Given the description of an element on the screen output the (x, y) to click on. 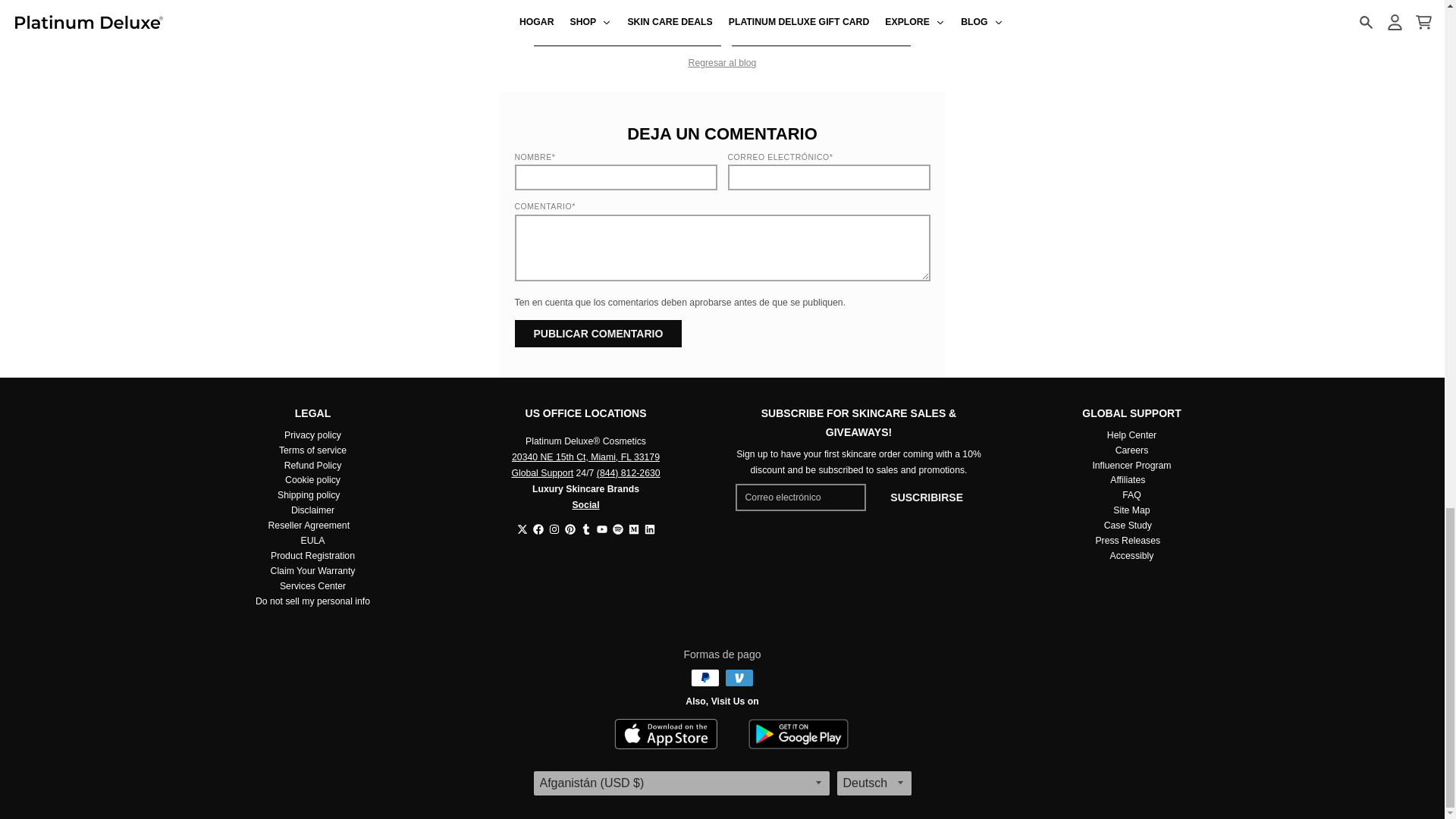
Facebook - Platinum Deluxe Cosmetics (537, 529)
Tumblr - Platinum Deluxe Cosmetics (585, 529)
LinkedIn - Platinum Deluxe Cosmetics (650, 529)
Medium - Platinum Deluxe Cosmetics (633, 529)
Spotify - Platinum Deluxe Cosmetics (617, 529)
Instagram - Platinum Deluxe Cosmetics (553, 529)
Publicar comentario (597, 333)
Pinterest - Platinum Deluxe Cosmetics (569, 529)
Twitter - Platinum Deluxe Cosmetics (521, 529)
YouTube - Platinum Deluxe Cosmetics (601, 529)
